Given the description of an element on the screen output the (x, y) to click on. 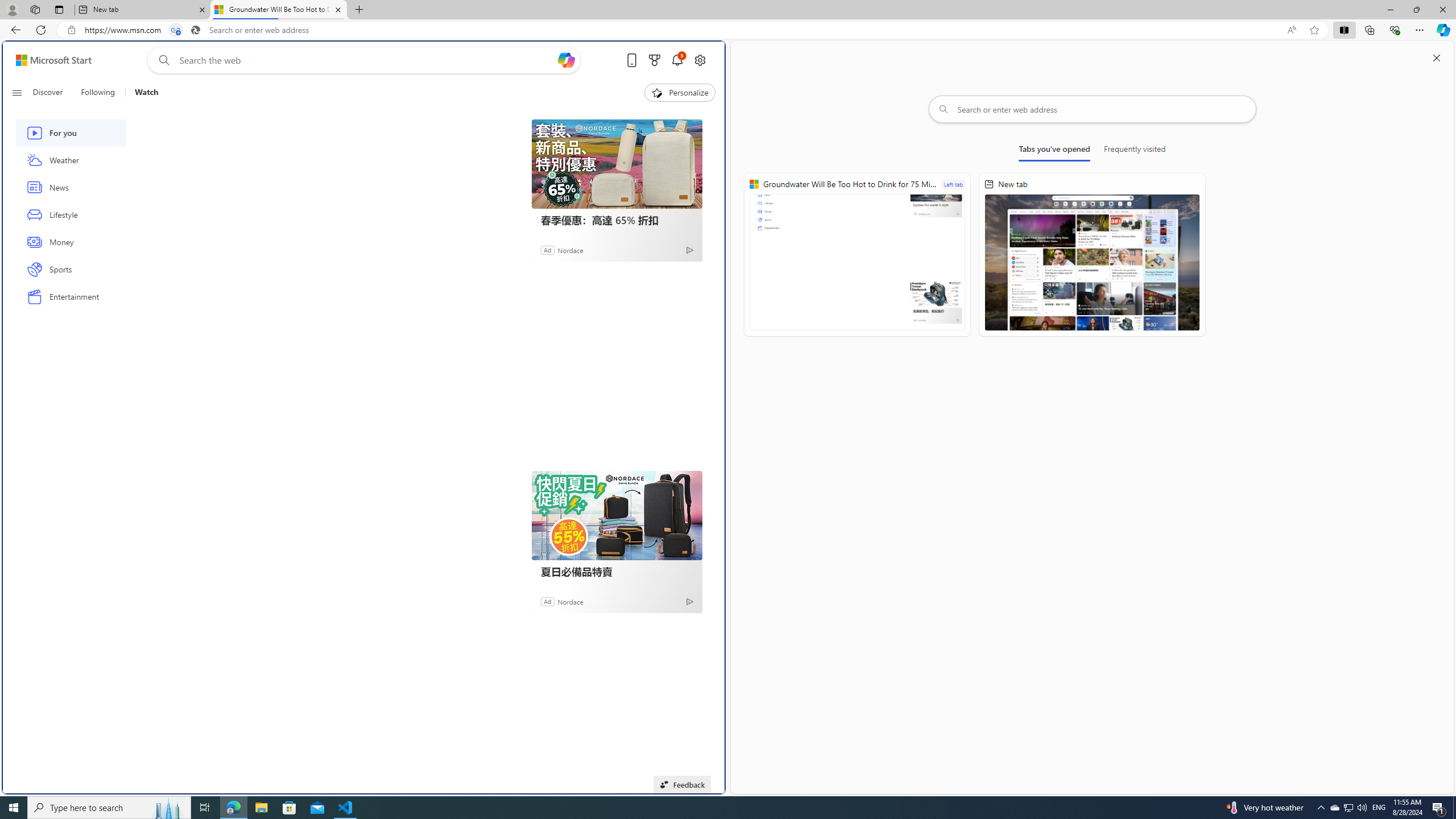
Class: button-glyph (16, 92)
Open settings (699, 60)
Tabs you've opened (1054, 151)
Open Copilot (565, 59)
Web search (161, 60)
